Given the description of an element on the screen output the (x, y) to click on. 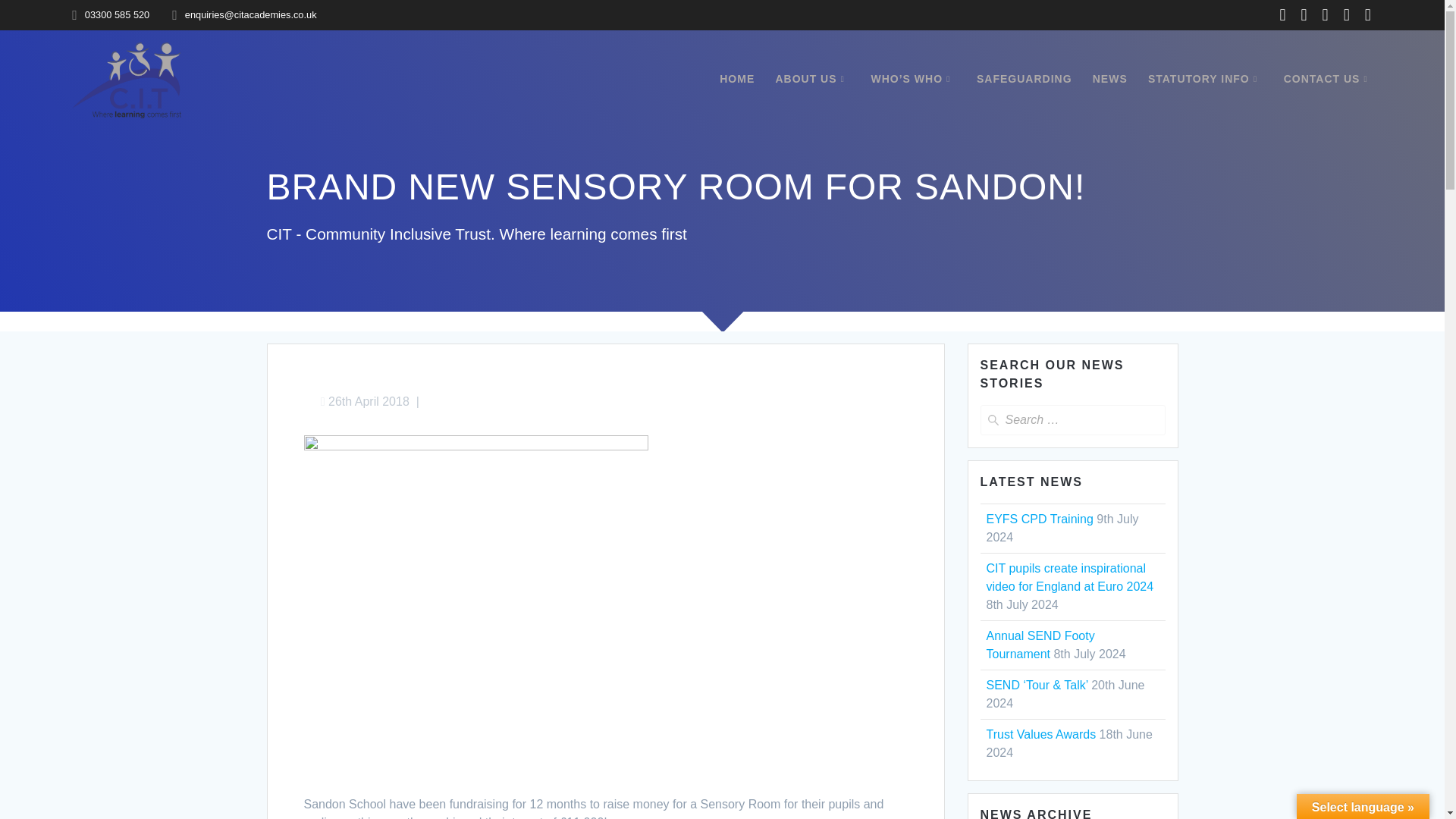
CONTACT US (1329, 79)
HOME (736, 79)
STATUTORY INFO (1205, 79)
ABOUT US (812, 79)
SAFEGUARDING (1023, 79)
NEWS (1109, 79)
